Given the description of an element on the screen output the (x, y) to click on. 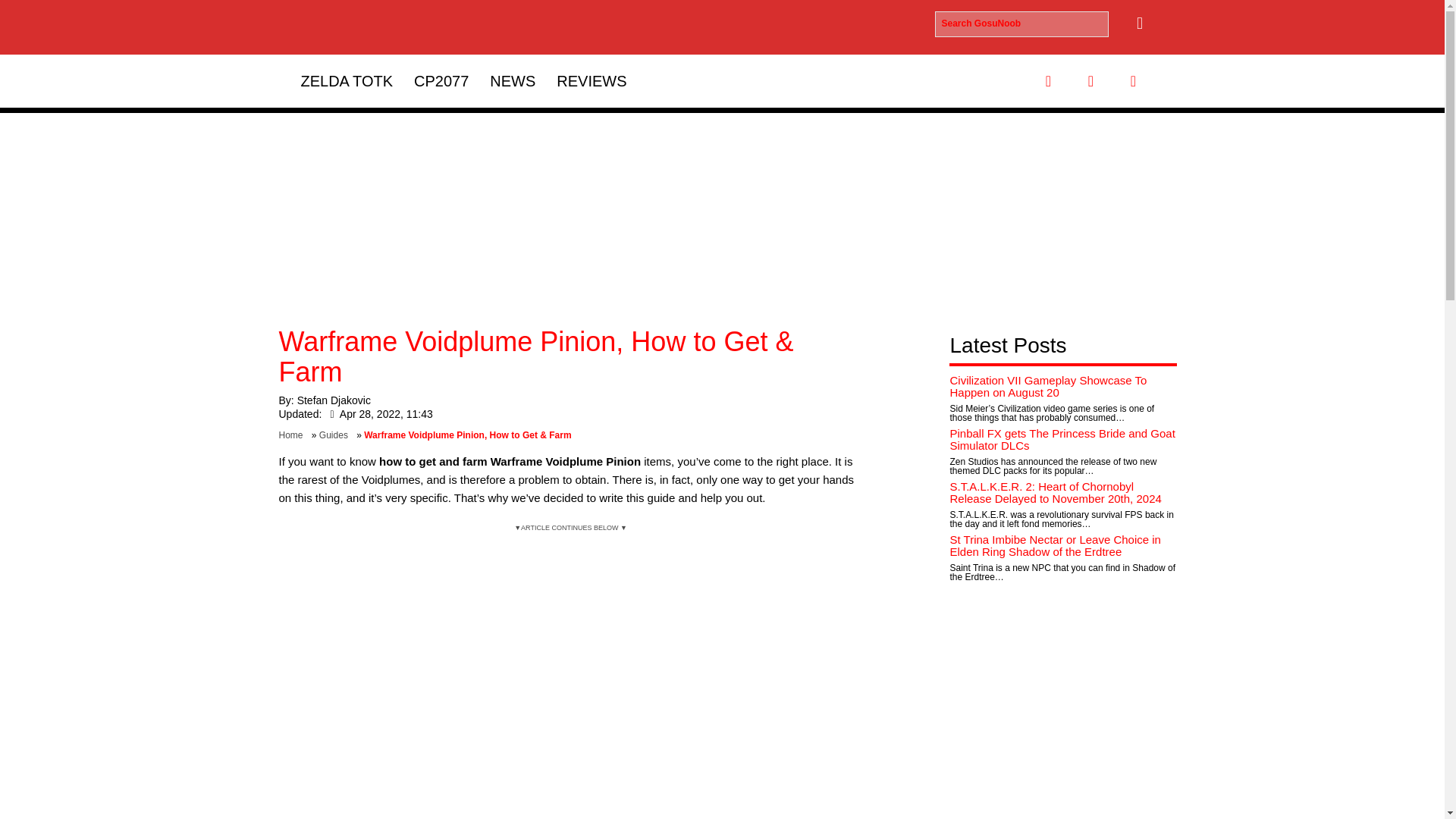
Pinball FX gets The Princess Bride and Goat Simulator DLCs (1061, 439)
Guides (335, 434)
Cyberpunk 2077 (441, 80)
NEWS (512, 80)
Pinball FX gets The Princess Bride and Goat Simulator DLCs (1061, 439)
Civilization VII Gameplay Showcase To Happen on August 20 (1048, 386)
Civilization VII Gameplay Showcase To Happen on August 20 (1048, 386)
Stefan Djakovic (334, 399)
